Given the description of an element on the screen output the (x, y) to click on. 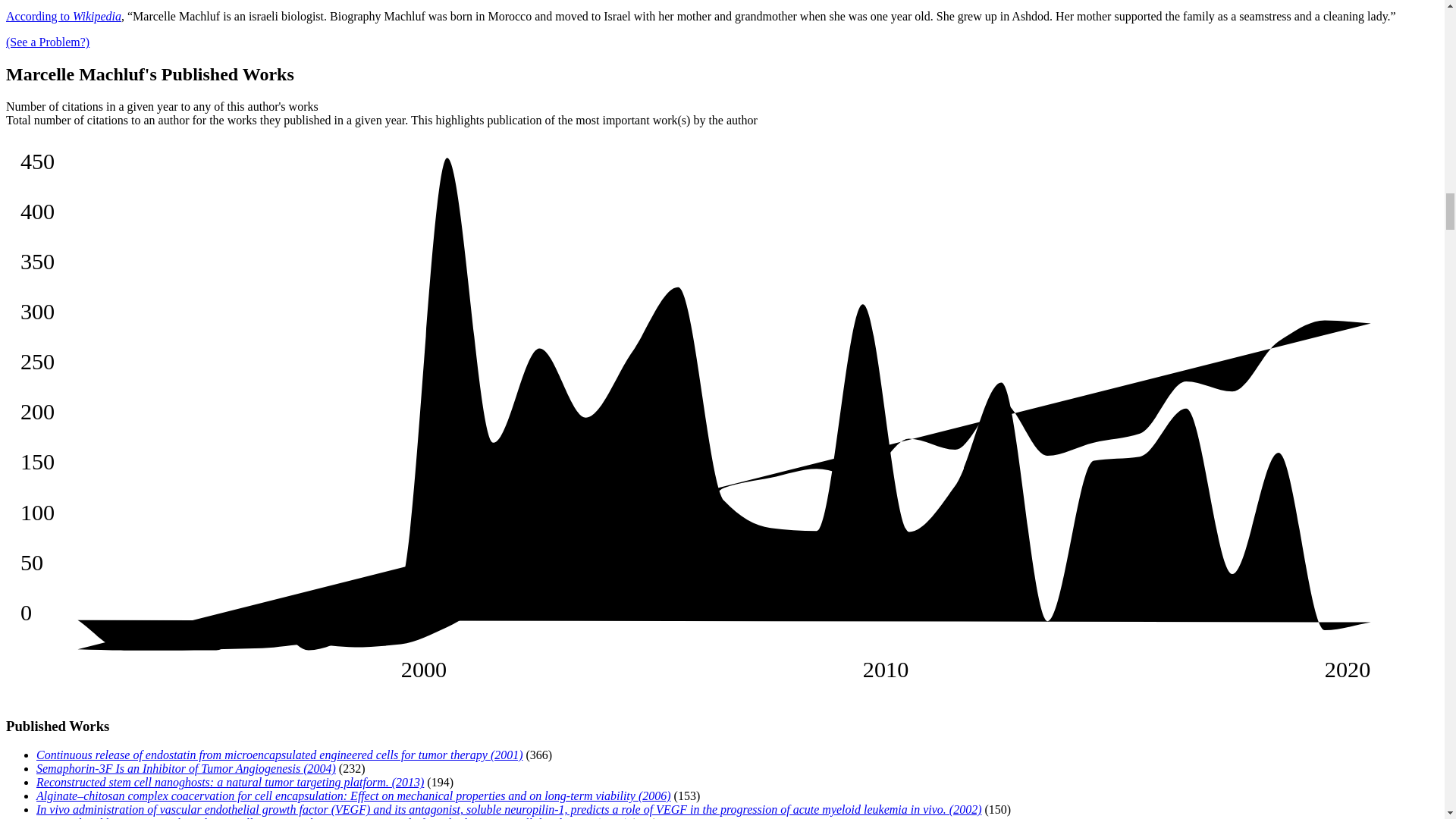
According to Wikipedia (62, 15)
